Given the description of an element on the screen output the (x, y) to click on. 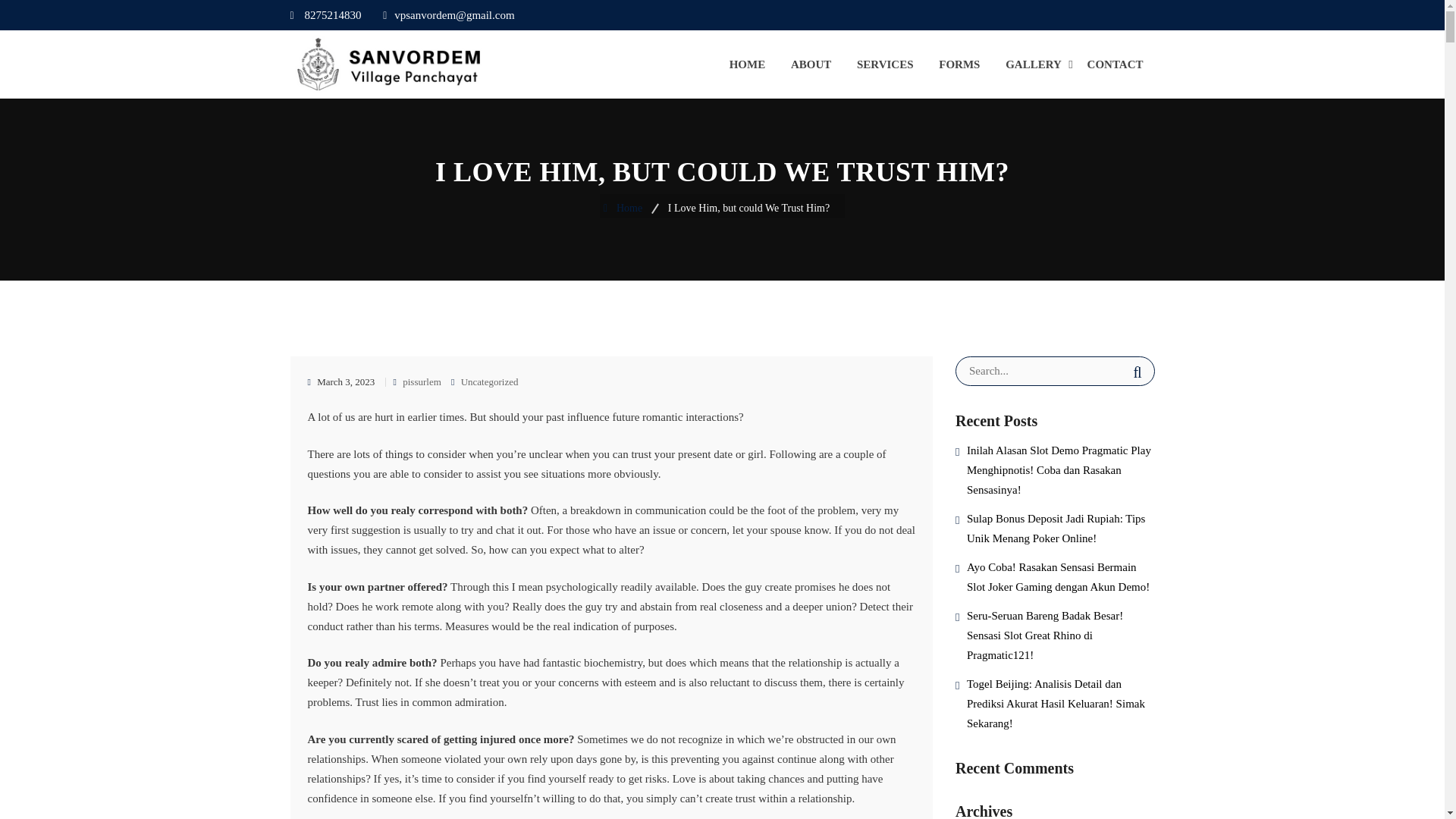
Uncategorized (489, 381)
Home (634, 207)
GALLERY (1033, 64)
HOME (747, 64)
SERVICES (885, 64)
Search (1136, 372)
ABOUT (810, 64)
FORMS (959, 64)
CONTACT (1114, 64)
pissurlem (420, 381)
